Given the description of an element on the screen output the (x, y) to click on. 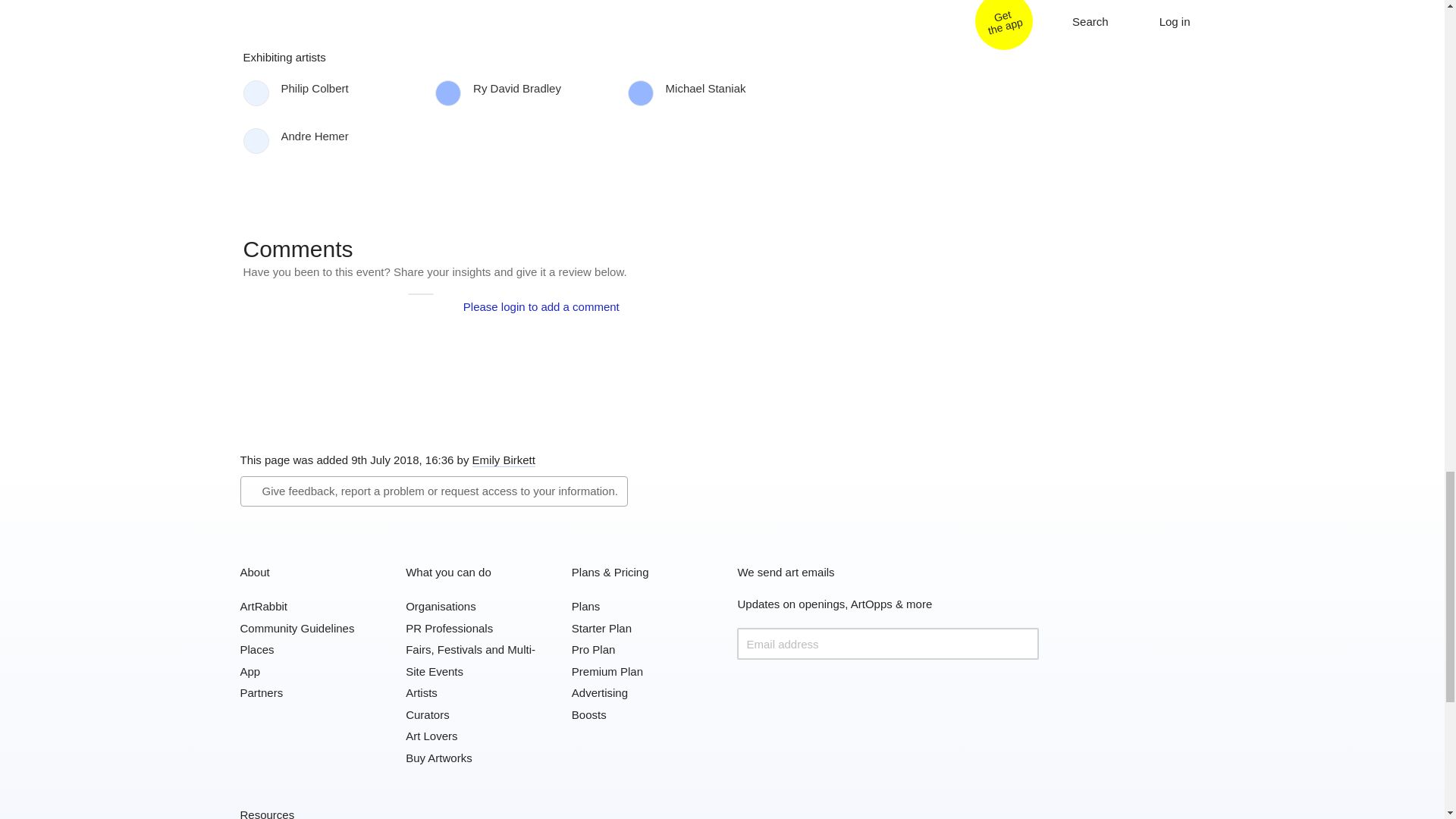
submit (1021, 643)
Philip Colbert (342, 88)
Multi-disciplinary (311, 17)
